Given the description of an element on the screen output the (x, y) to click on. 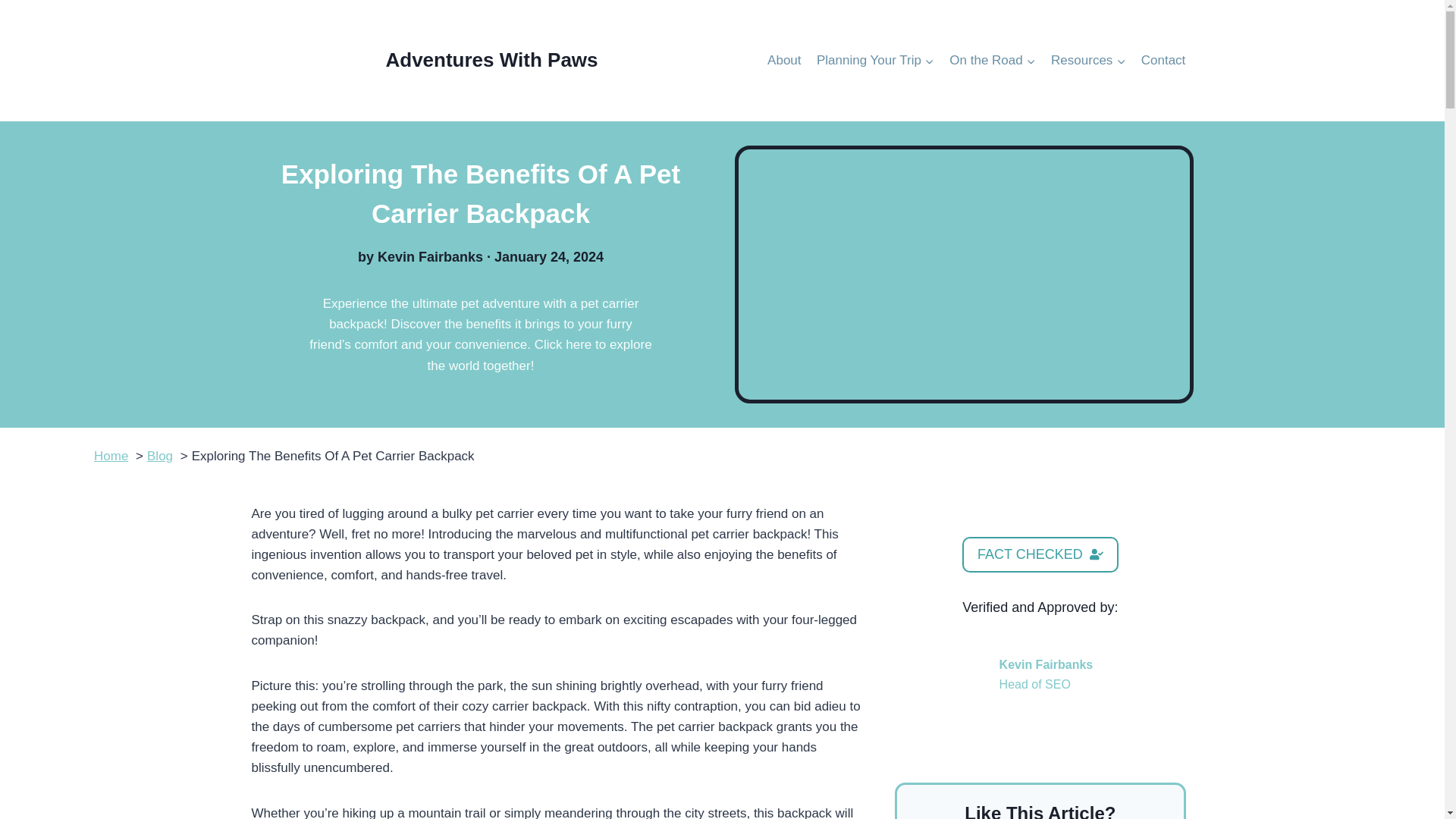
Contact (1163, 60)
On the Road (992, 60)
Adventures With Paws (424, 60)
Resources (1088, 60)
Blog (160, 455)
About (784, 60)
Home (111, 455)
Planning Your Trip (875, 60)
